Given the description of an element on the screen output the (x, y) to click on. 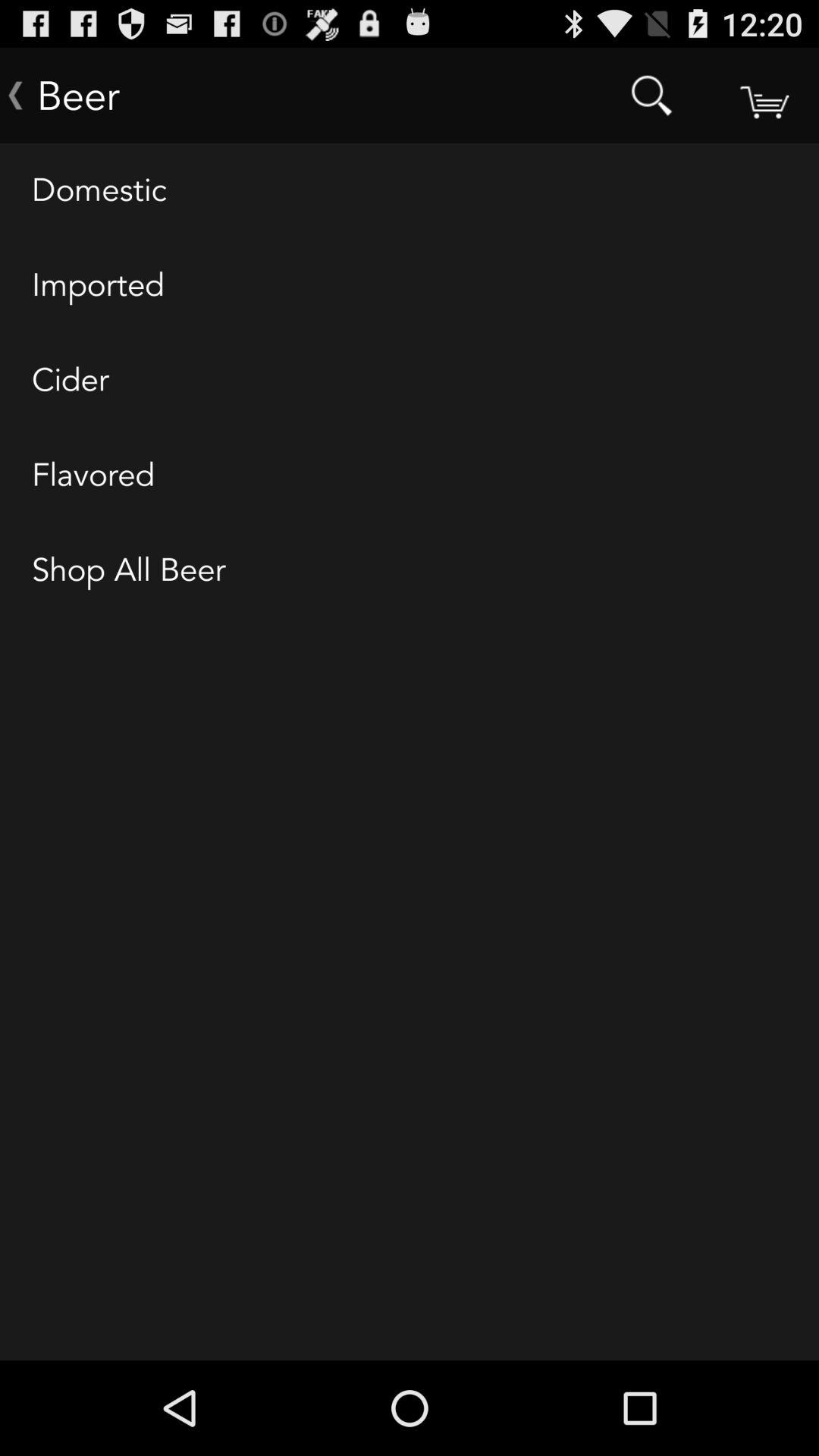
swipe to cider item (409, 380)
